Given the description of an element on the screen output the (x, y) to click on. 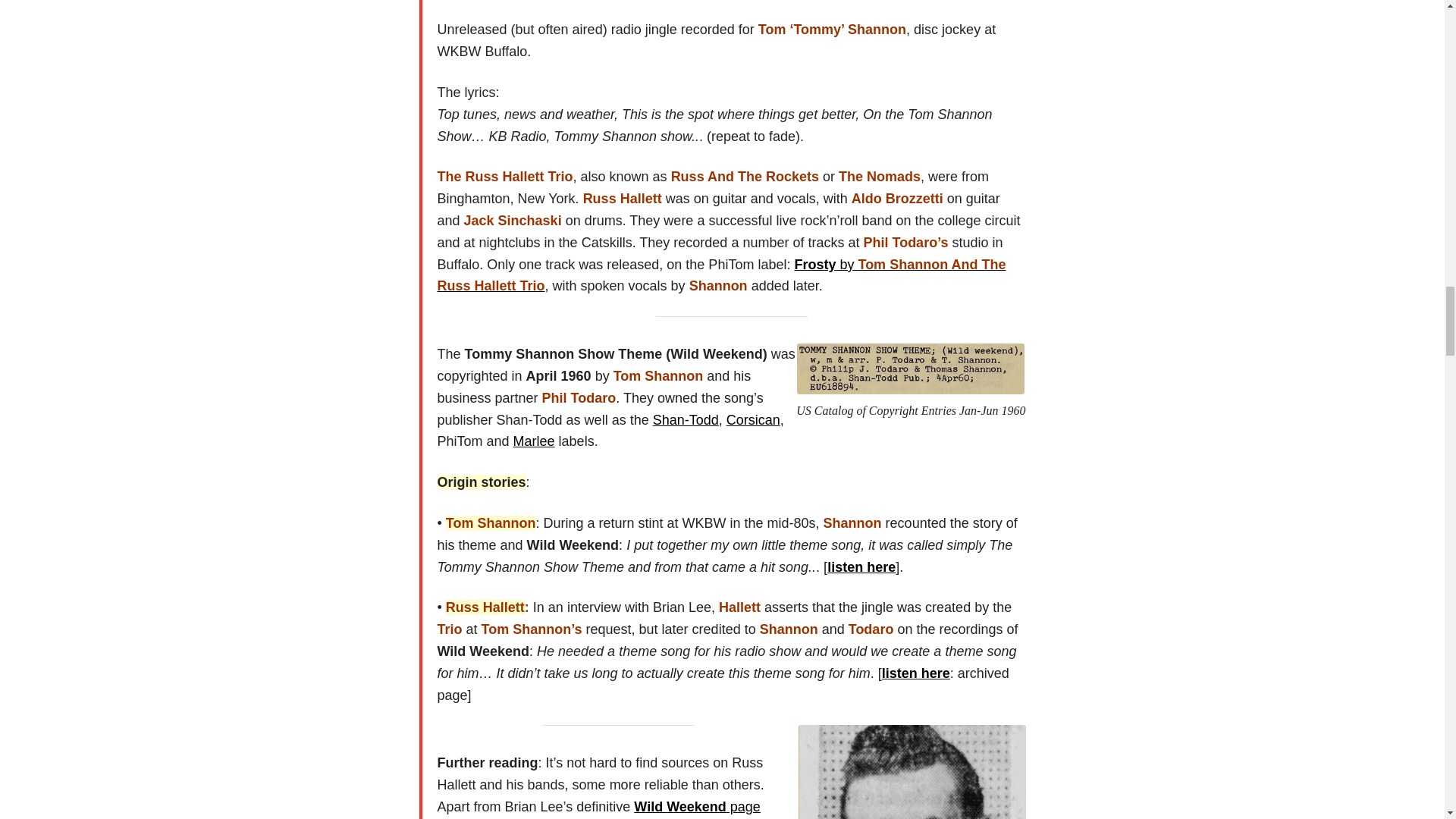
Frosty by Tom Shannon And The Russ Hallett Trio (721, 275)
Corsican (753, 419)
Shan-Todd (685, 419)
